Given the description of an element on the screen output the (x, y) to click on. 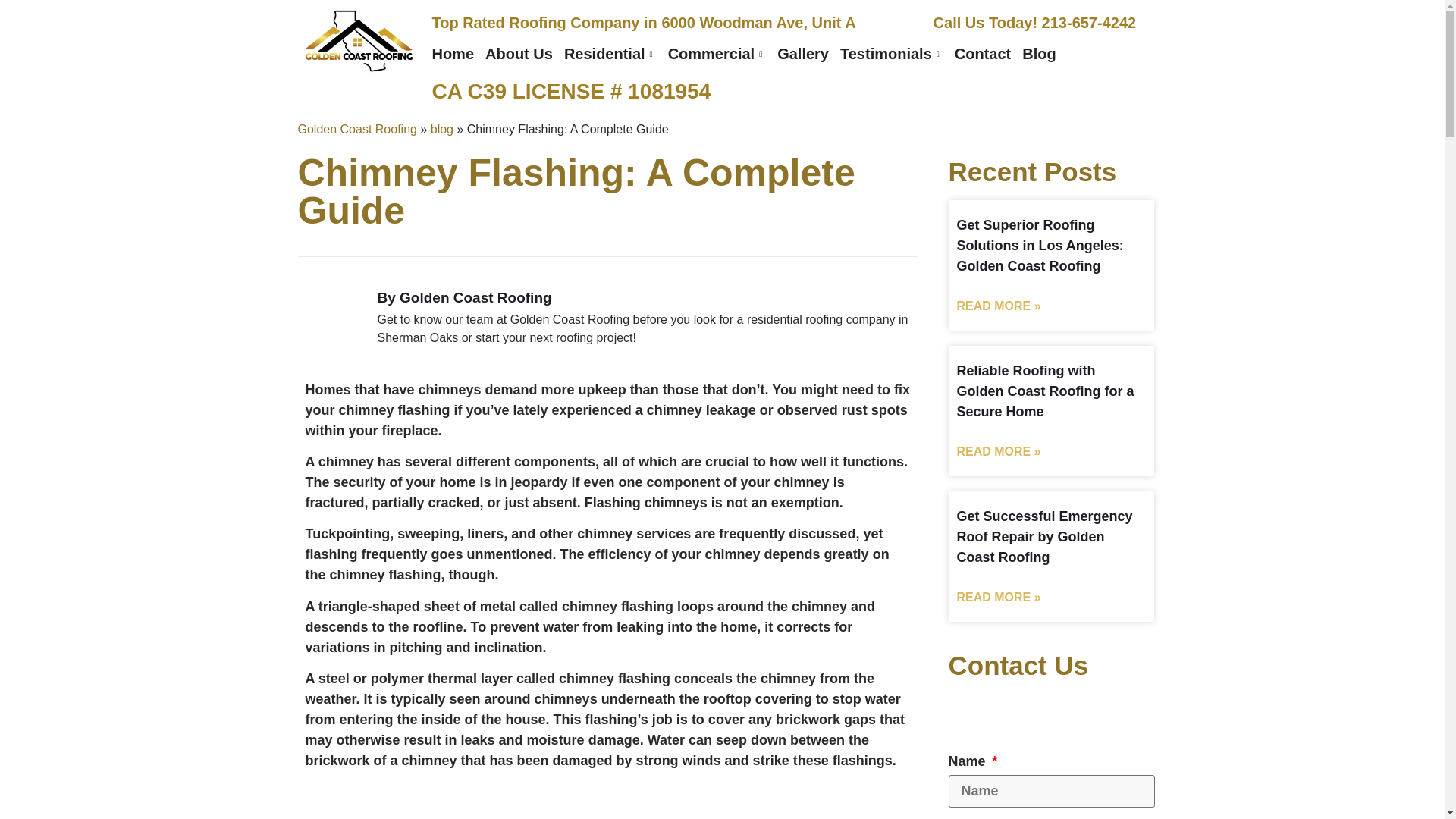
Gallery (808, 53)
Testimonials (897, 53)
Residential (616, 53)
Golden Coast Roofing (356, 128)
Commercial (722, 53)
About Us (524, 53)
Contact (988, 53)
blog (441, 128)
Home (457, 53)
Blog (1044, 53)
Call Us Today! 213-657-4242 (1035, 22)
